Given the description of an element on the screen output the (x, y) to click on. 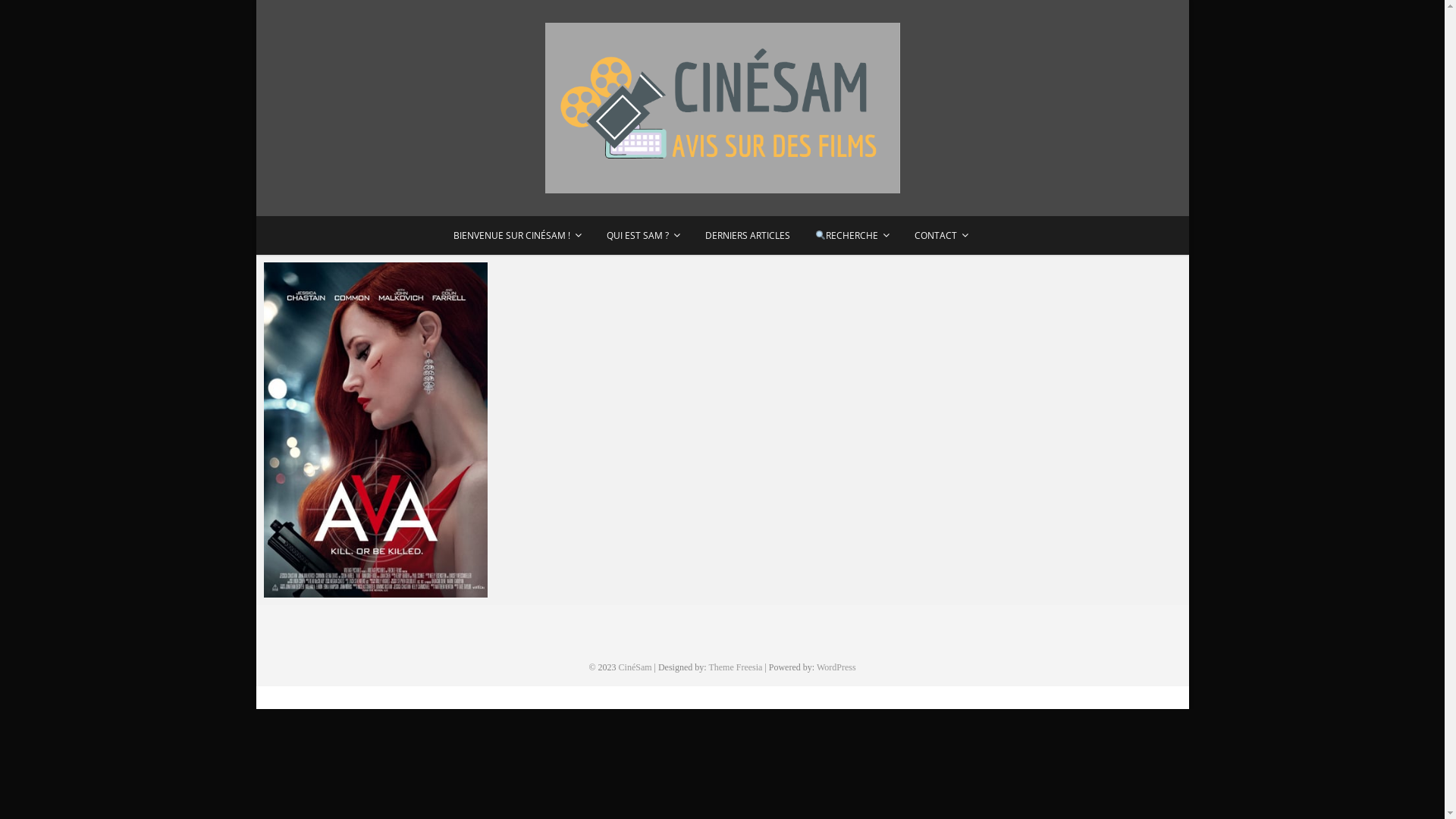
Theme Freesia Element type: text (735, 667)
RECHERCHE Element type: text (851, 235)
CONTACT Element type: text (941, 235)
DERNIERS ARTICLES Element type: text (747, 235)
QUI EST SAM ? Element type: text (643, 235)
WordPress Element type: text (836, 667)
Ava Element type: hover (375, 430)
